Given the description of an element on the screen output the (x, y) to click on. 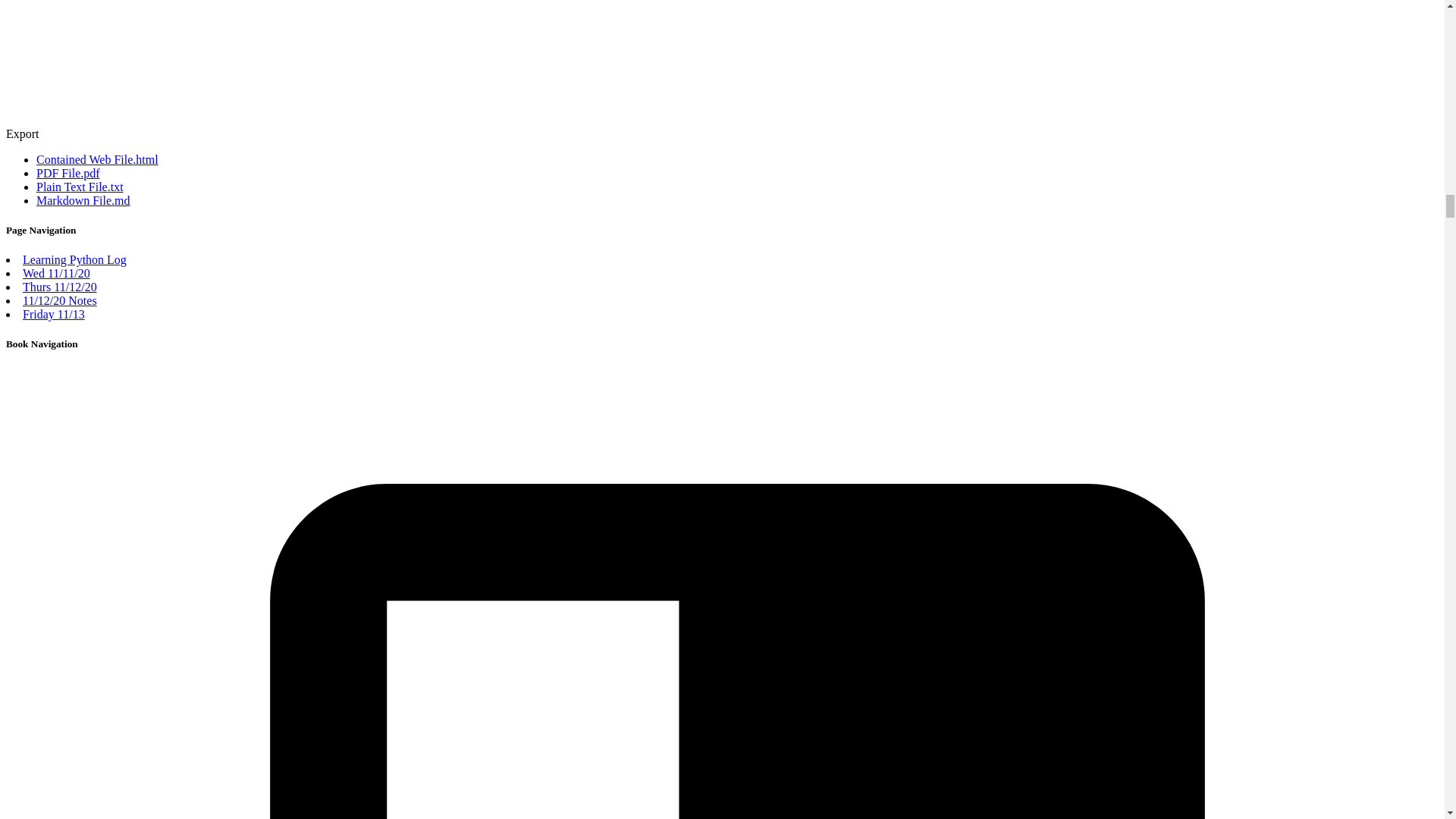
Learning Python Log (74, 259)
Contained Web File.html (97, 159)
PDF File.pdf (68, 173)
Plain Text File.txt (79, 186)
Markdown File.md (83, 200)
